Given the description of an element on the screen output the (x, y) to click on. 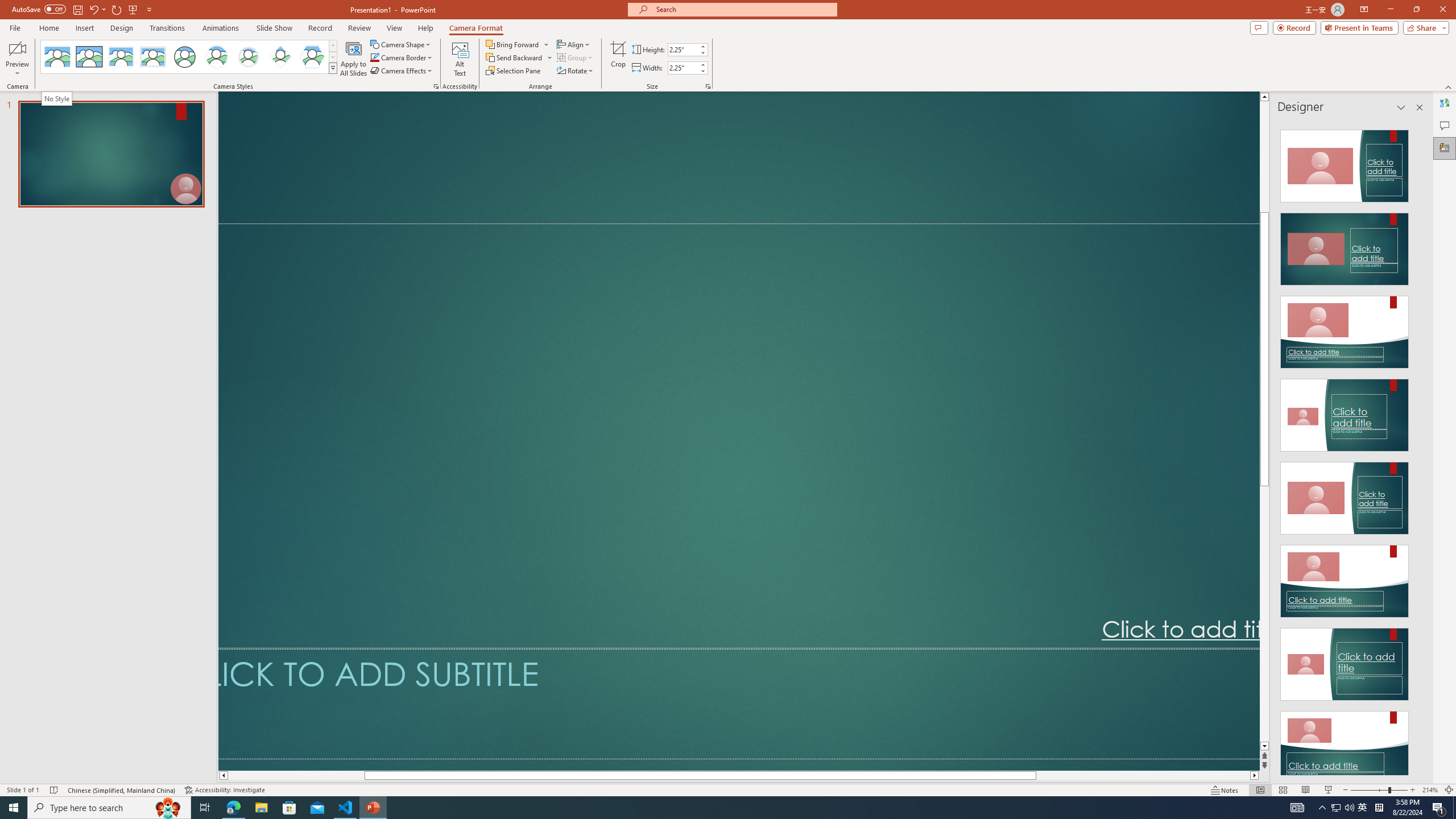
No Style (57, 56)
Center Shadow Rectangle (120, 56)
Rotate (575, 69)
Camera Border (401, 56)
Send Backward (518, 56)
Zoom 214% (1430, 790)
Cameo Height (682, 49)
Center Shadow Circle (216, 56)
Bring Forward (513, 44)
Selection Pane... (513, 69)
